Given the description of an element on the screen output the (x, y) to click on. 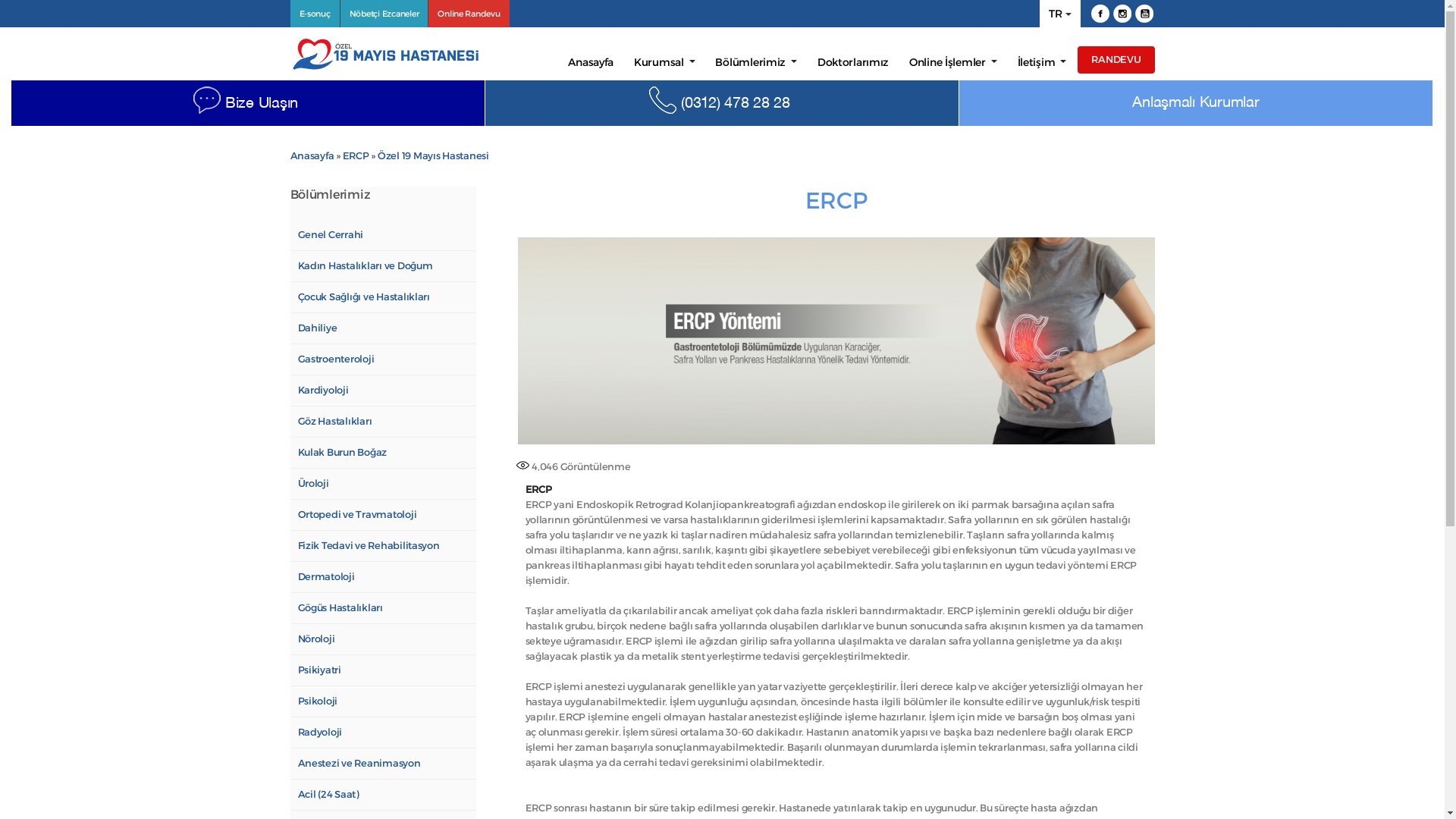
 Youtube Element type: hover (1143, 13)
Online Randevu Element type: text (468, 13)
 Instagram Element type: hover (1122, 13)
Gastroenteroloji Element type: text (382, 359)
RANDEVU Element type: text (1115, 59)
Psikoloji Element type: text (382, 701)
Dermatoloji Element type: text (382, 576)
Fizik Tedavi ve Rehabilitasyon Element type: text (382, 545)
Anestezi ve Reanimasyon Element type: text (382, 763)
Radyoloji Element type: text (382, 732)
Genel Cerrahi Element type: text (382, 234)
Psikiyatri Element type: text (382, 670)
ERCP Element type: text (836, 200)
Kardiyoloji Element type: text (382, 390)
Dahiliye Element type: text (382, 328)
 Facebook Element type: hover (1100, 13)
Kurumsal Element type: text (664, 61)
(0312) 478 28 28 Element type: text (735, 103)
Anasayfa Element type: text (590, 61)
ERCP Element type: text (355, 155)
Ortopedi ve Travmatoloji Element type: text (382, 514)
TR Element type: text (1055, 13)
Anasayfa Element type: text (311, 155)
Acil (24 Saat) Element type: text (382, 794)
TR Element type: text (1059, 13)
